Given the description of an element on the screen output the (x, y) to click on. 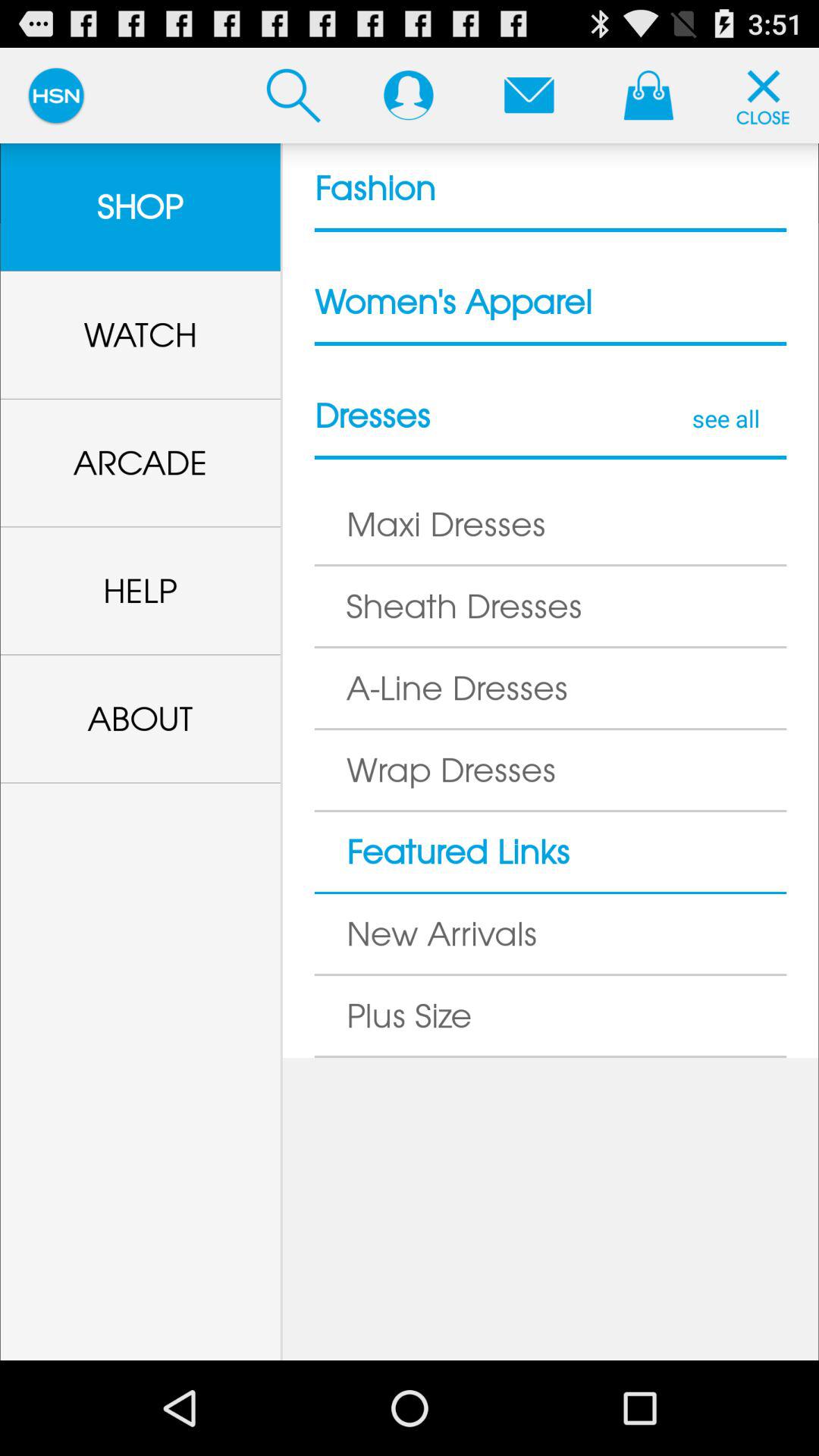
email (529, 95)
